Given the description of an element on the screen output the (x, y) to click on. 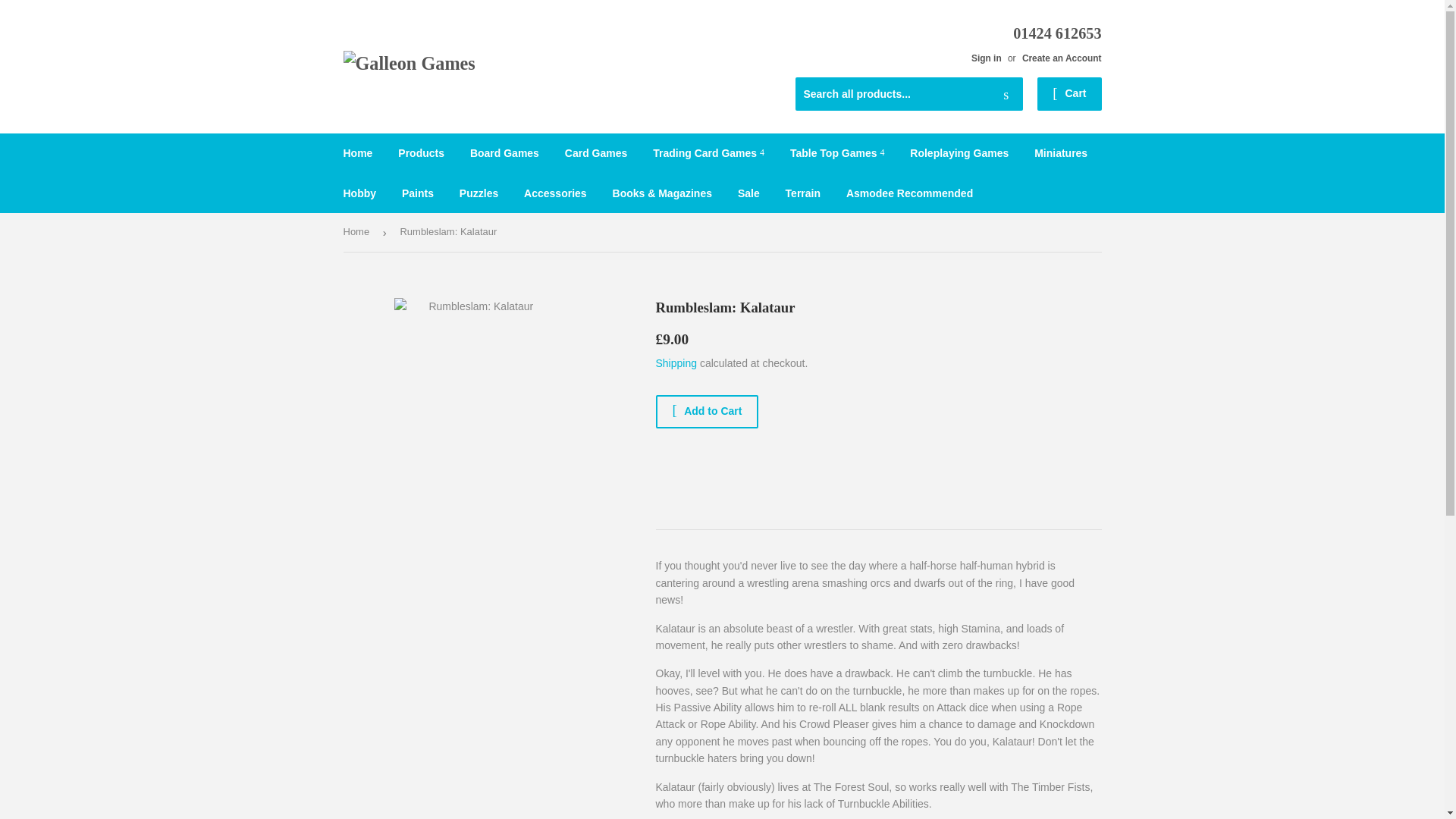
Sign in (986, 58)
Cart (1068, 93)
Search (1005, 94)
Create an Account (1062, 58)
